Given the description of an element on the screen output the (x, y) to click on. 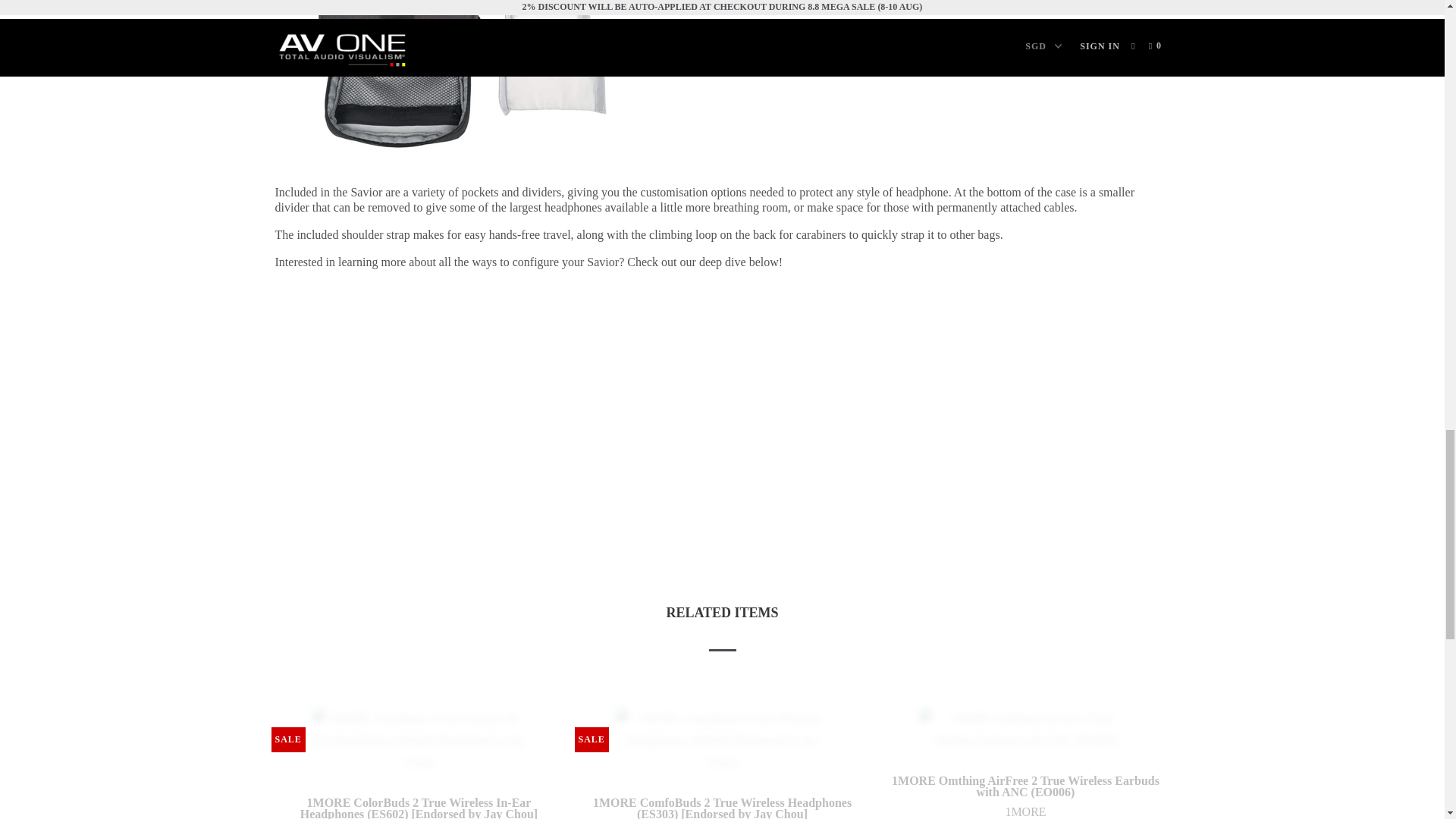
YouTube video player (388, 398)
